Given the description of an element on the screen output the (x, y) to click on. 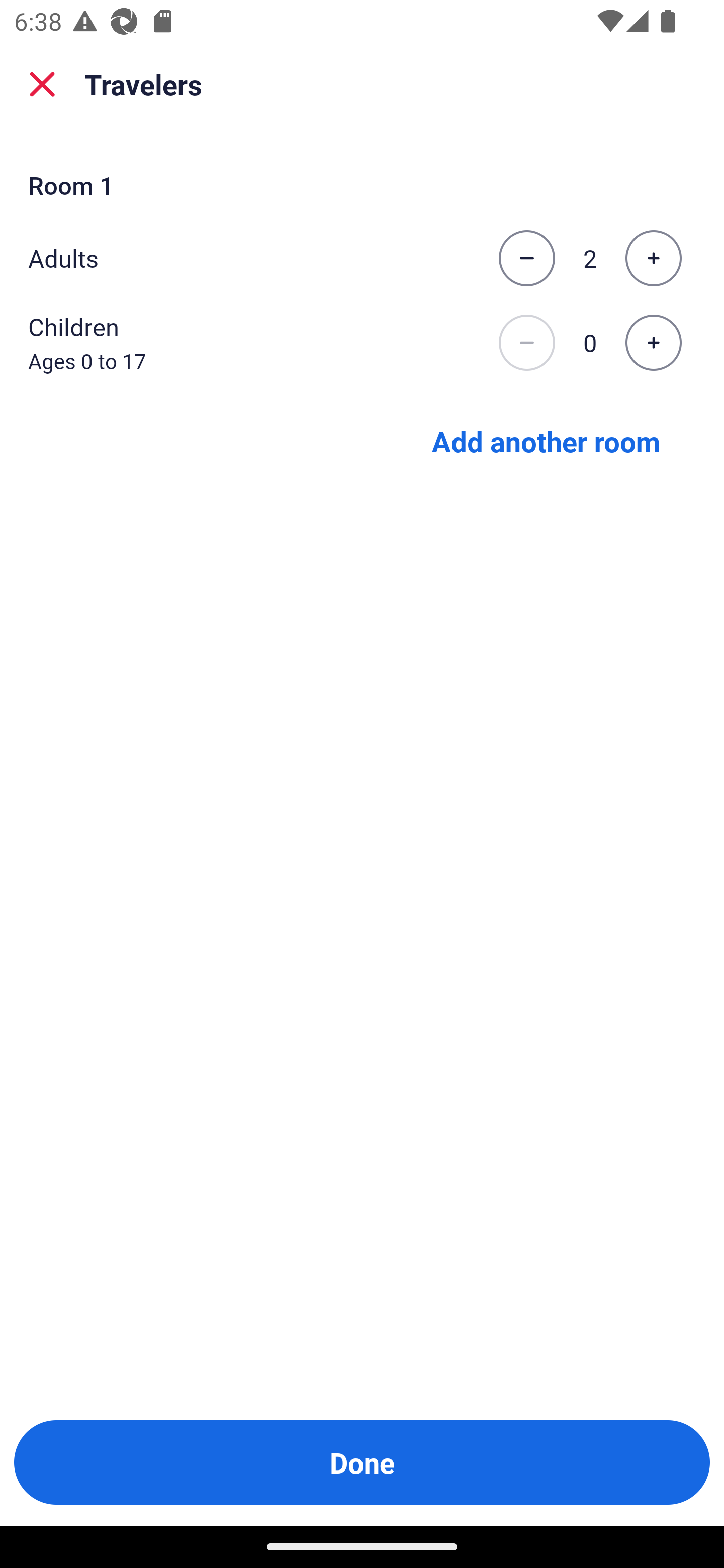
close (42, 84)
Decrease the number of adults (526, 258)
Increase the number of adults (653, 258)
Decrease the number of children (526, 343)
Increase the number of children (653, 343)
Add another room (545, 440)
Done (361, 1462)
